Given the description of an element on the screen output the (x, y) to click on. 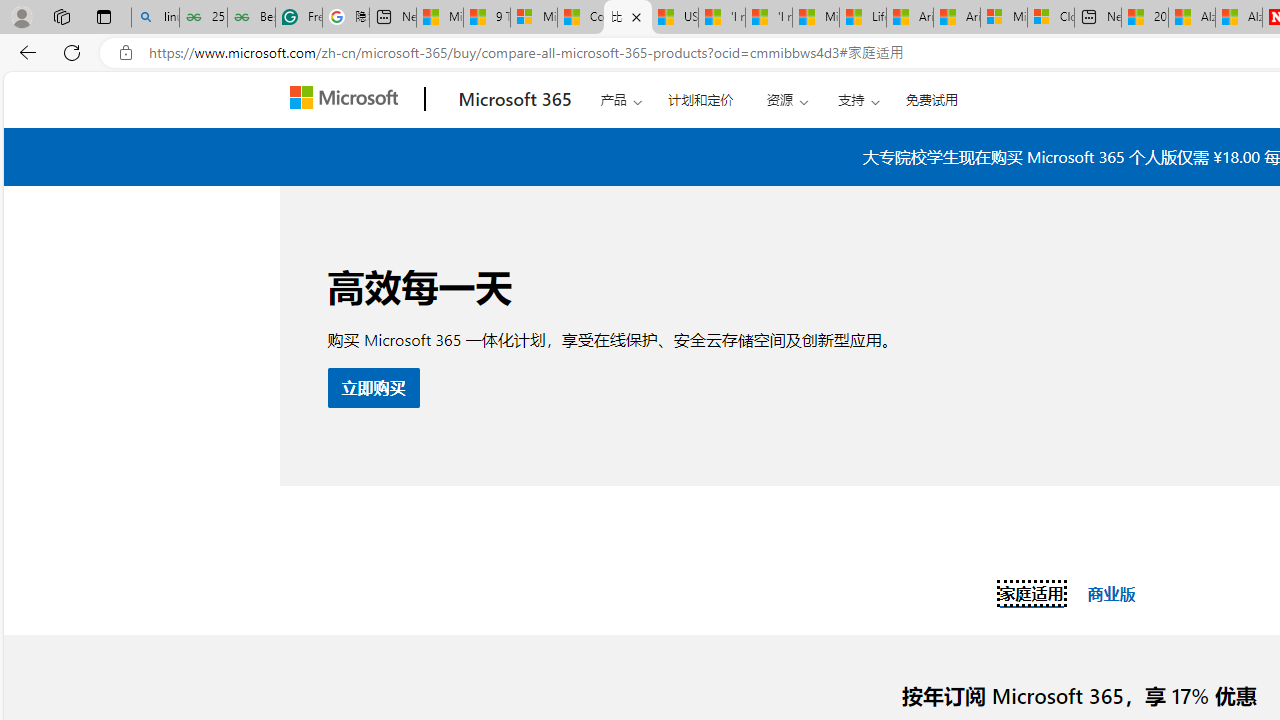
linux basic - Search (155, 17)
Free AI Writing Assistance for Students | Grammarly (299, 17)
